Given the description of an element on the screen output the (x, y) to click on. 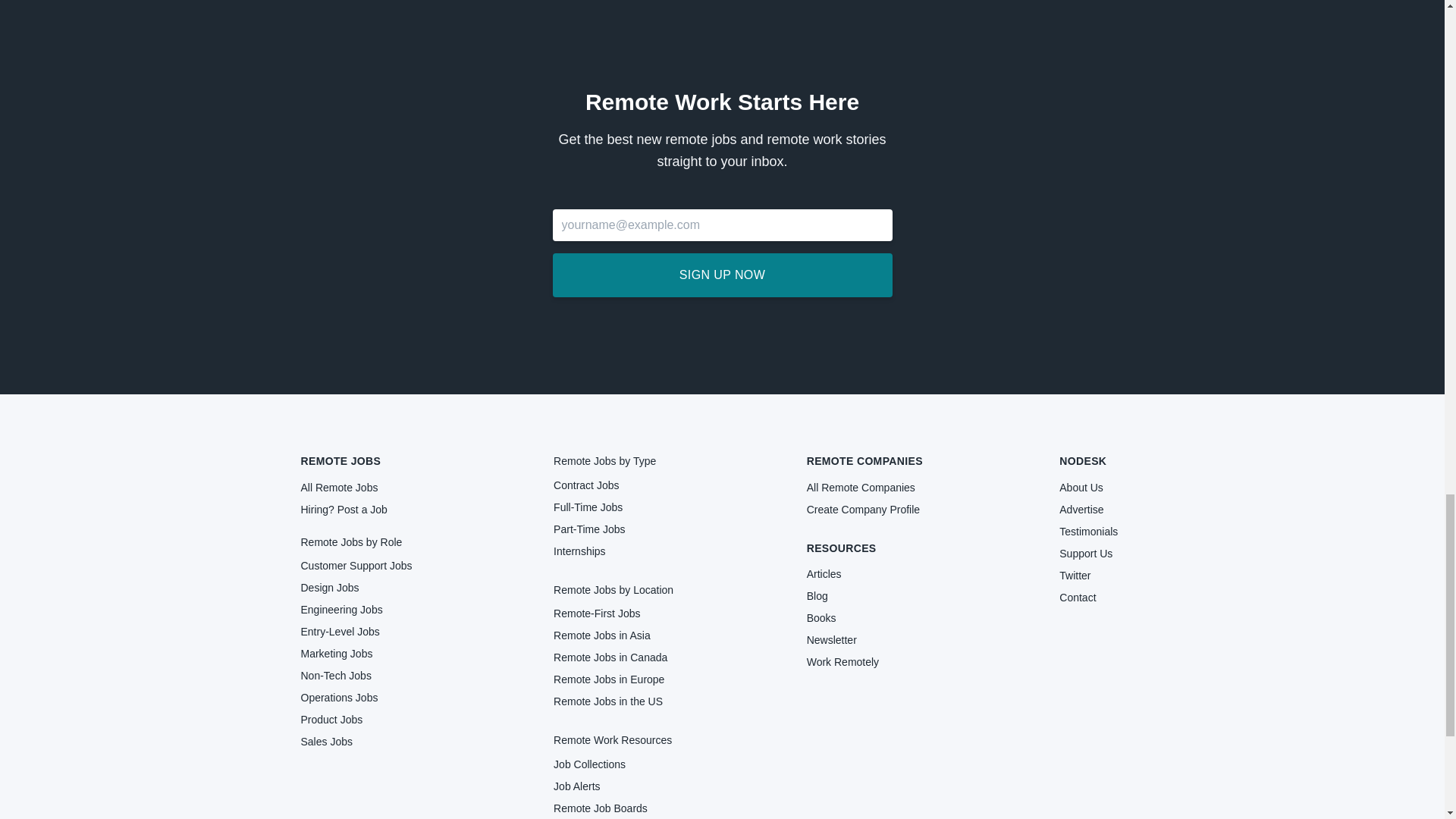
Your email address (721, 224)
